Given the description of an element on the screen output the (x, y) to click on. 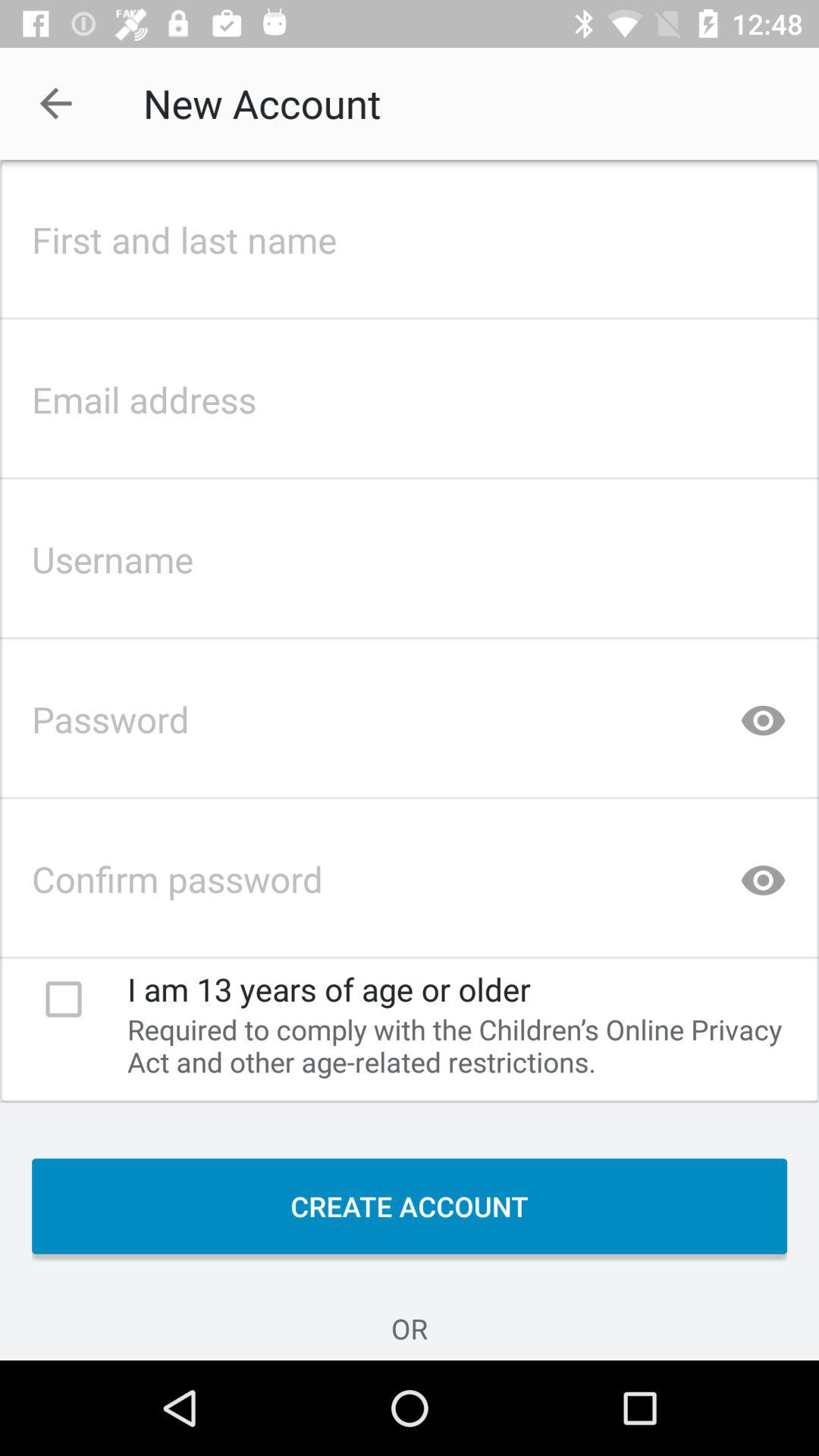
option to un-hide passsword (763, 714)
